Given the description of an element on the screen output the (x, y) to click on. 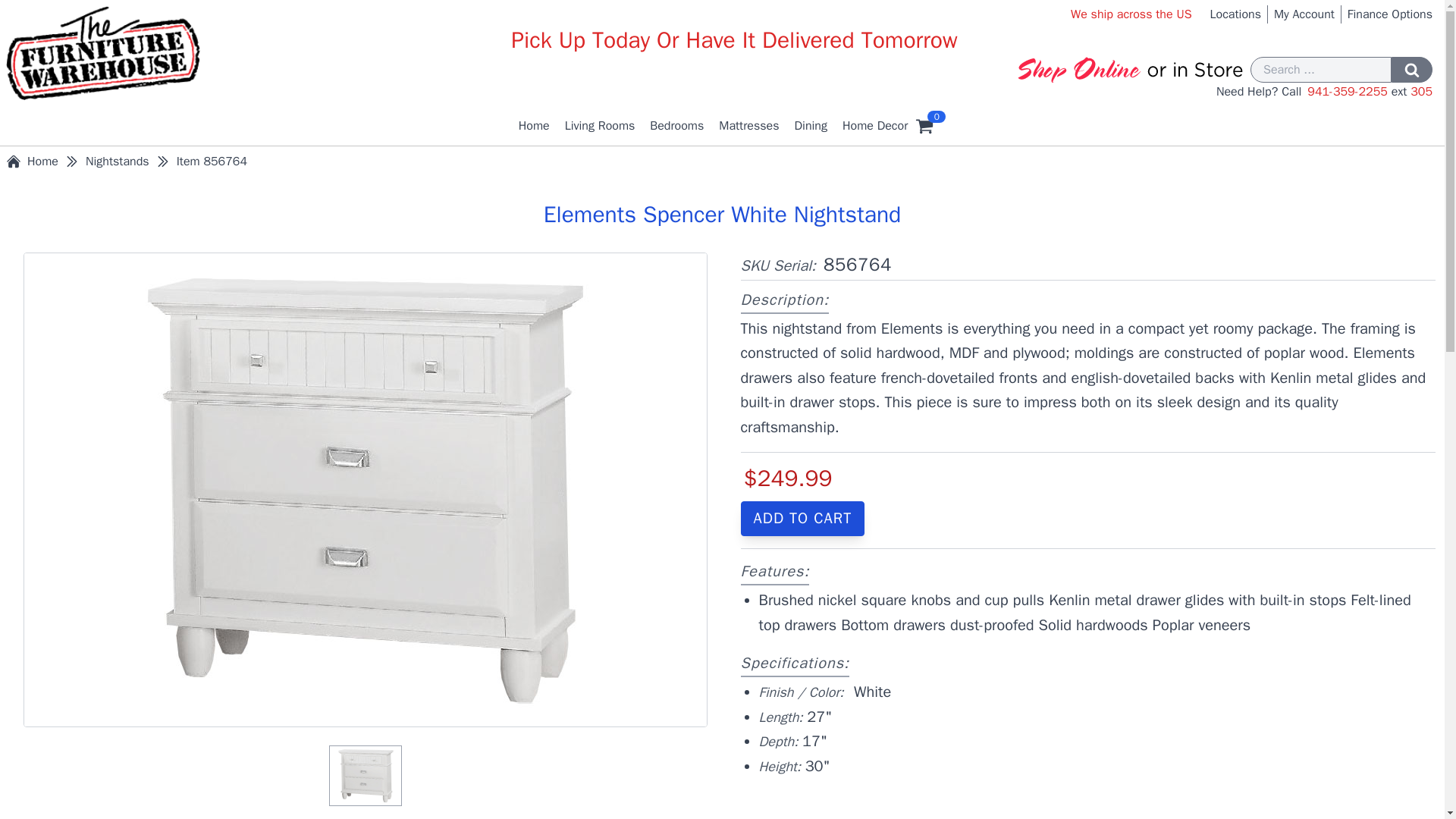
Home (534, 125)
Add to Cart (801, 518)
Living Rooms (600, 125)
941-359-2255 ext 305 (1369, 91)
My Account (1304, 14)
Finance Options (1390, 14)
Locations (1234, 14)
